Given the description of an element on the screen output the (x, y) to click on. 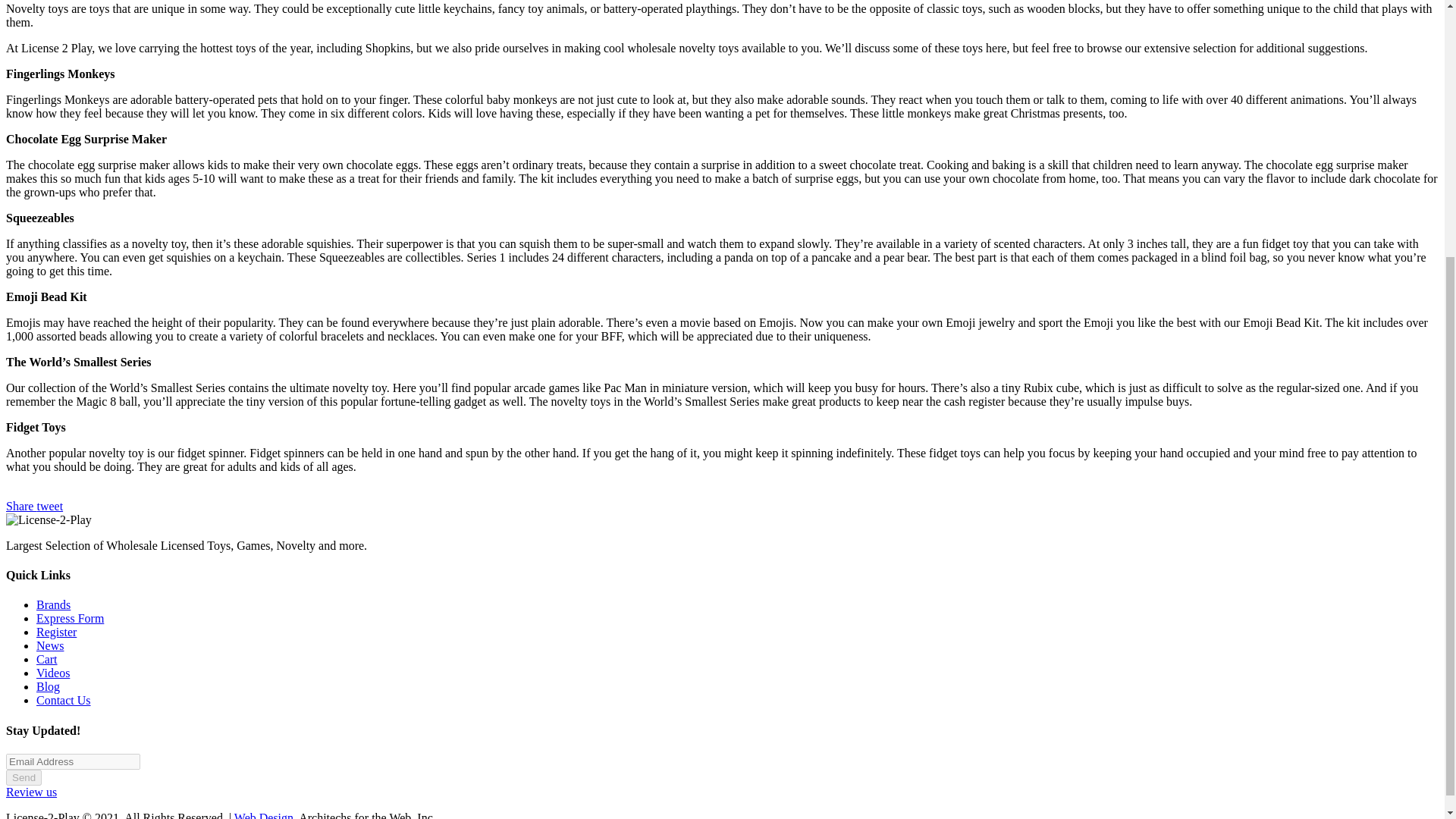
News (50, 645)
Express Form (69, 617)
Share (20, 505)
Contact Us (63, 699)
Review us (30, 791)
Brands (52, 604)
Send (23, 777)
Send (23, 777)
Cart (47, 658)
Blog (47, 686)
Register (56, 631)
Videos (52, 672)
tweet (49, 505)
